Given the description of an element on the screen output the (x, y) to click on. 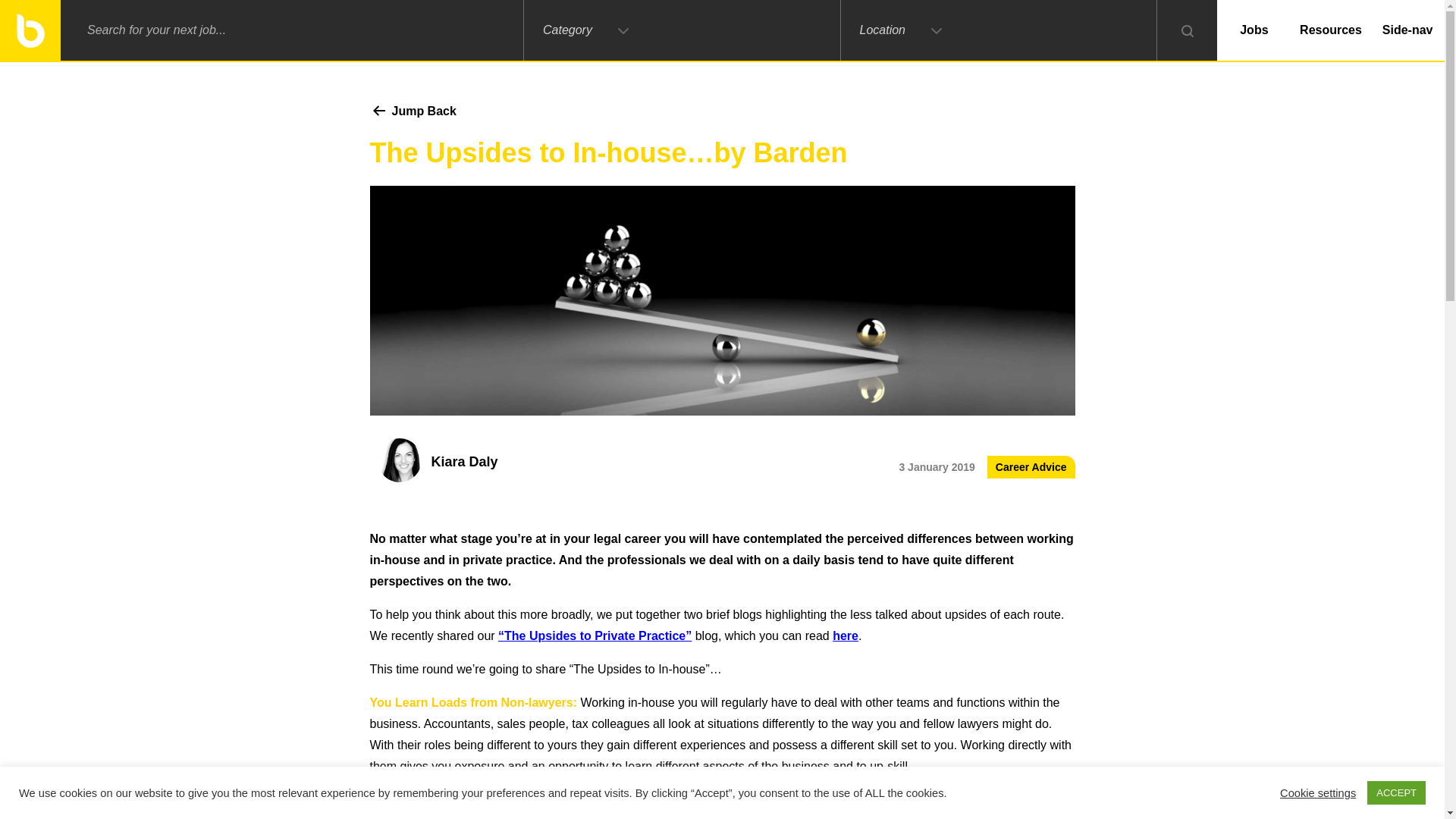
here (845, 635)
Jobs (1254, 30)
Resources (1331, 30)
Side-nav (1407, 30)
Jump Back (413, 110)
3 January 2019 (936, 467)
